Given the description of an element on the screen output the (x, y) to click on. 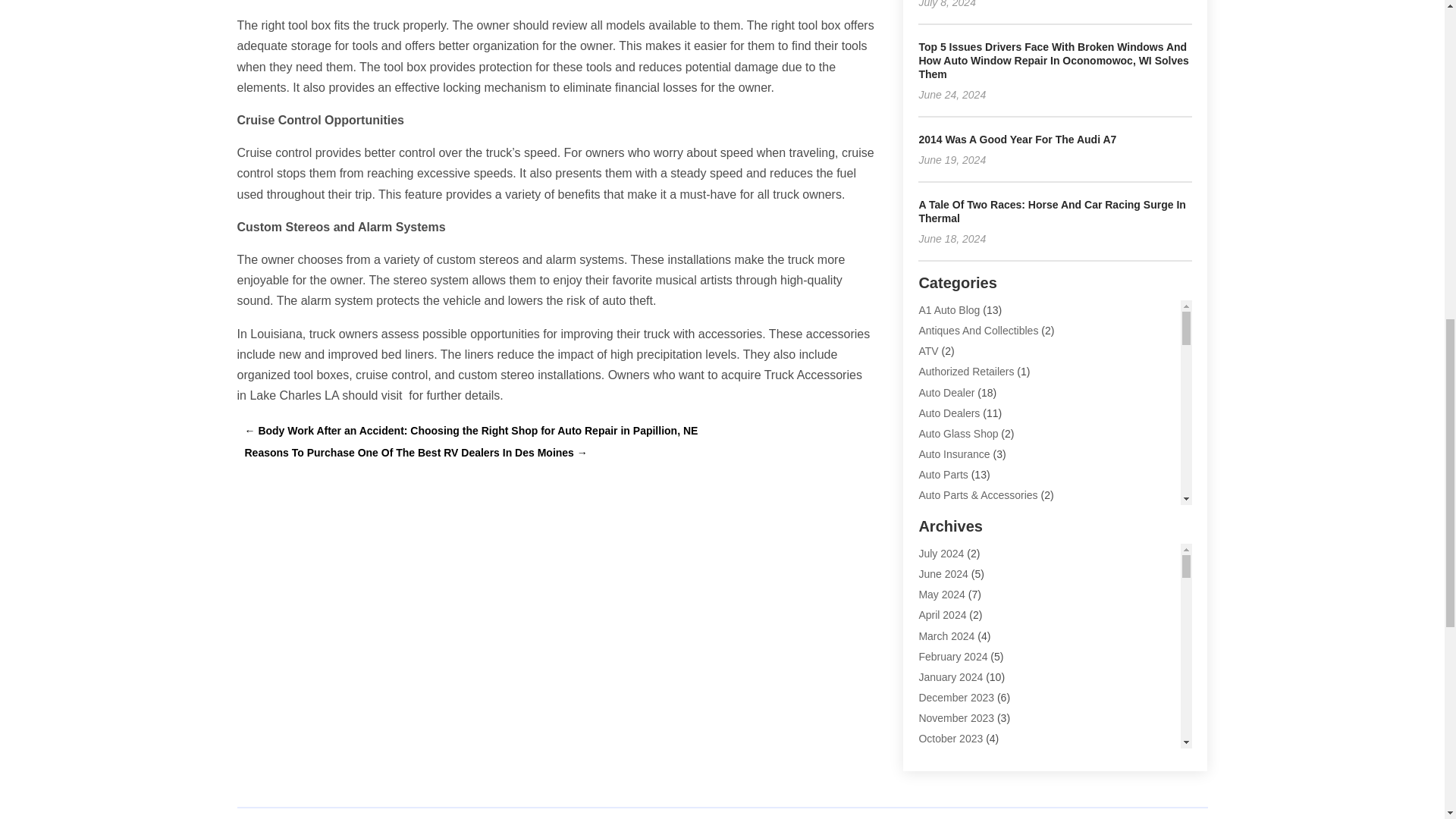
Auto Glass Shop (957, 433)
A1 Auto Blog (948, 309)
Auto Parts Store (956, 536)
Antiques And Collectibles (978, 330)
2014 Was A Good Year For The Audi A7 (1017, 139)
Auto Dealers (948, 413)
A Tale Of Two Races: Horse And Car Racing Surge In Thermal (1051, 211)
ATV (927, 350)
Auto Parts (943, 474)
Authorized Retailers (965, 371)
Auto Dealer (946, 392)
Auto Repair (946, 557)
Auto Parts Dealer (960, 516)
Auto Insurance (954, 453)
